Given the description of an element on the screen output the (x, y) to click on. 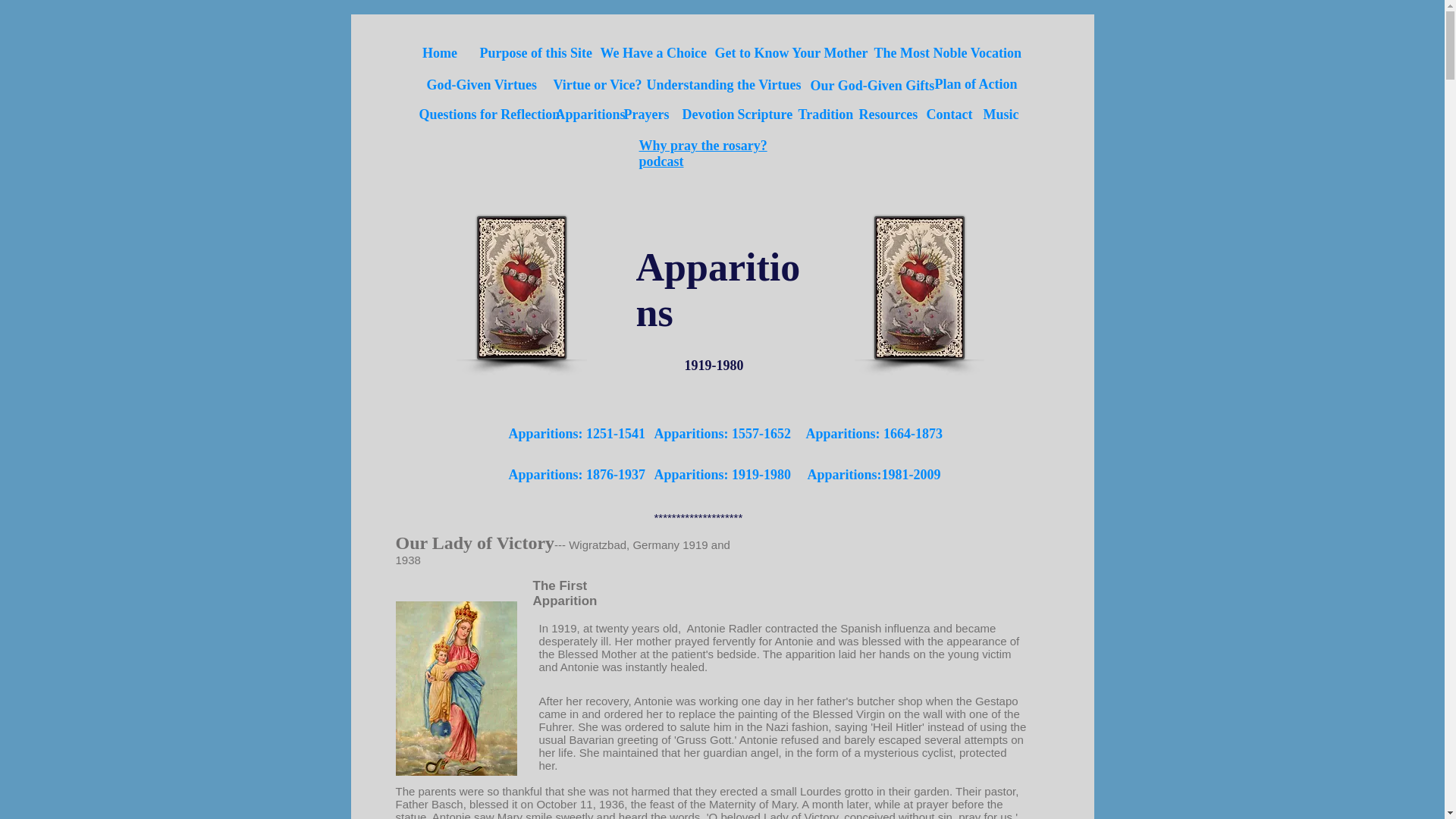
Prayers (645, 115)
Resources (888, 115)
Get to Know Your Mother (790, 53)
Apparitions: 1664-1873 (873, 434)
We Have a Choice (652, 53)
Music (1000, 115)
The Most Noble Vocation (947, 53)
Apparitions: 1919-1980 (721, 475)
Scripture (764, 115)
Devotion (708, 115)
